Given the description of an element on the screen output the (x, y) to click on. 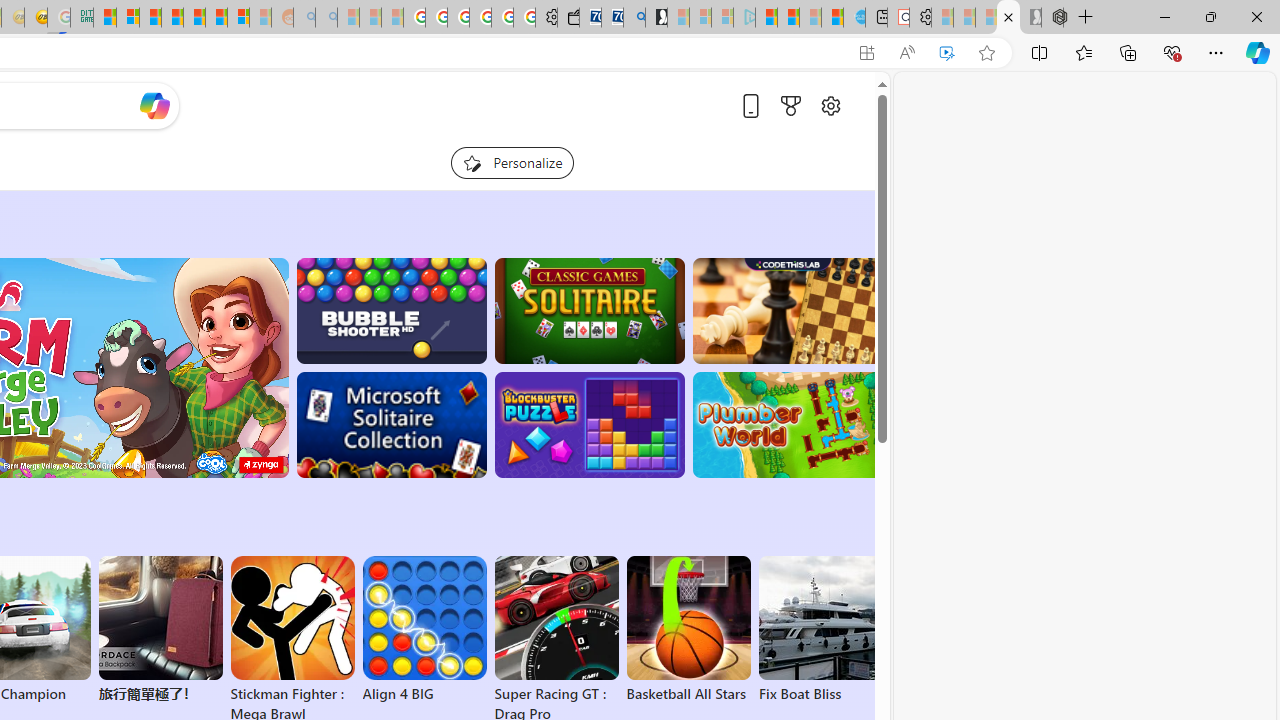
Microsoft Solitaire Collection (390, 425)
Align 4 BIG (424, 629)
BlockBuster: Adventures Puzzle (589, 425)
